Given the description of an element on the screen output the (x, y) to click on. 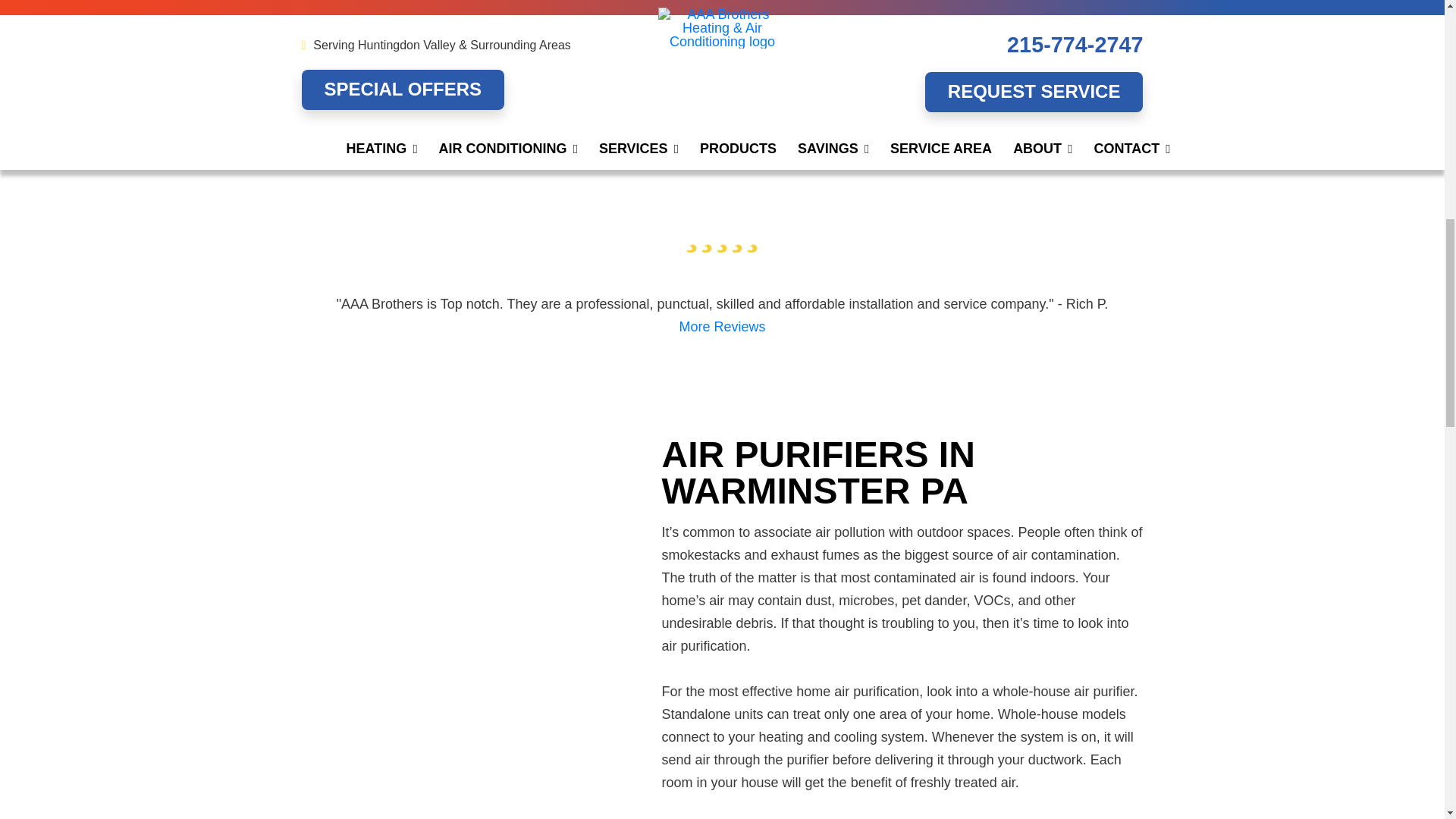
More Reviews (721, 326)
